Given the description of an element on the screen output the (x, y) to click on. 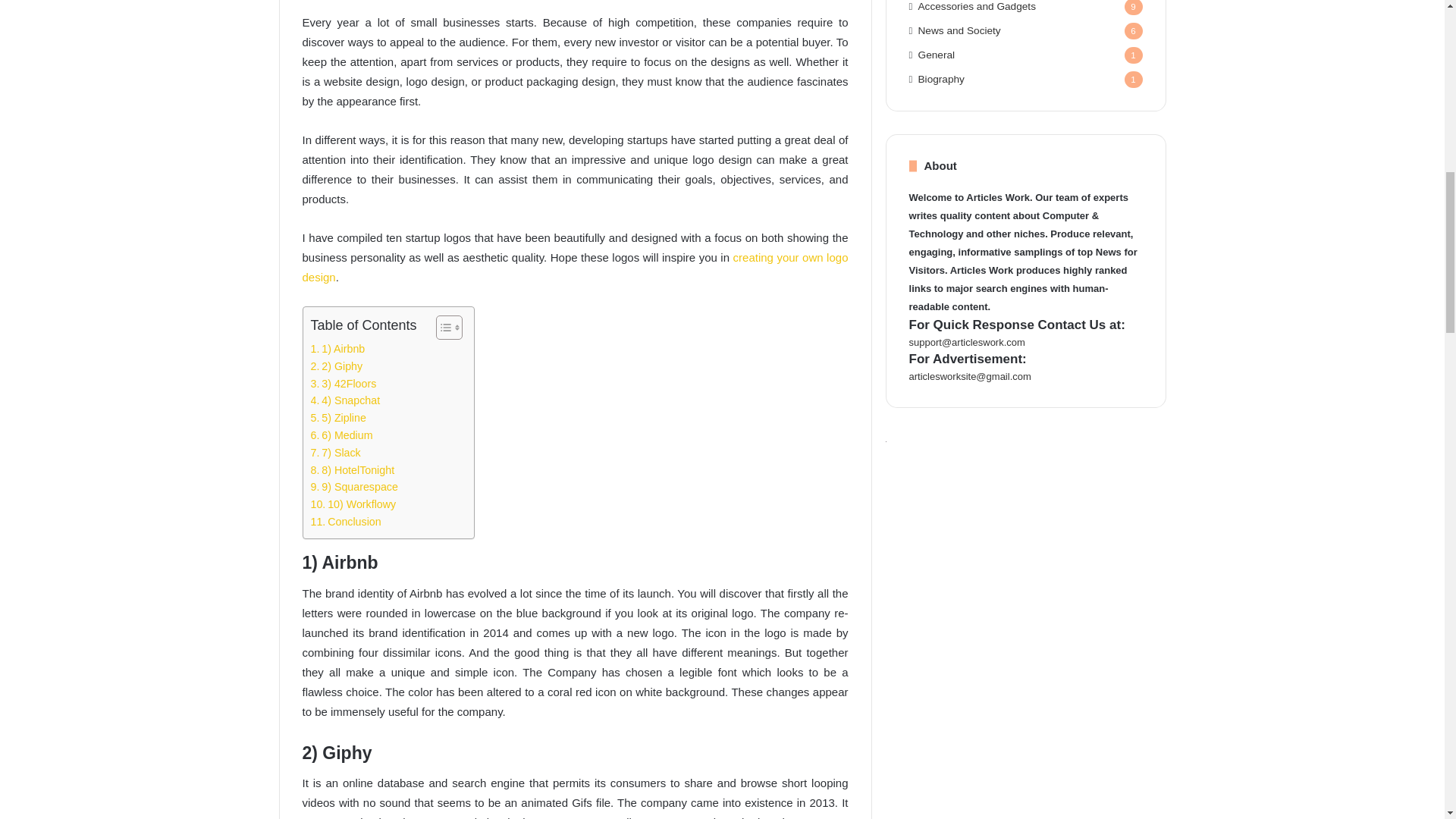
Conclusion (346, 521)
creating your own logo design (574, 266)
